Given the description of an element on the screen output the (x, y) to click on. 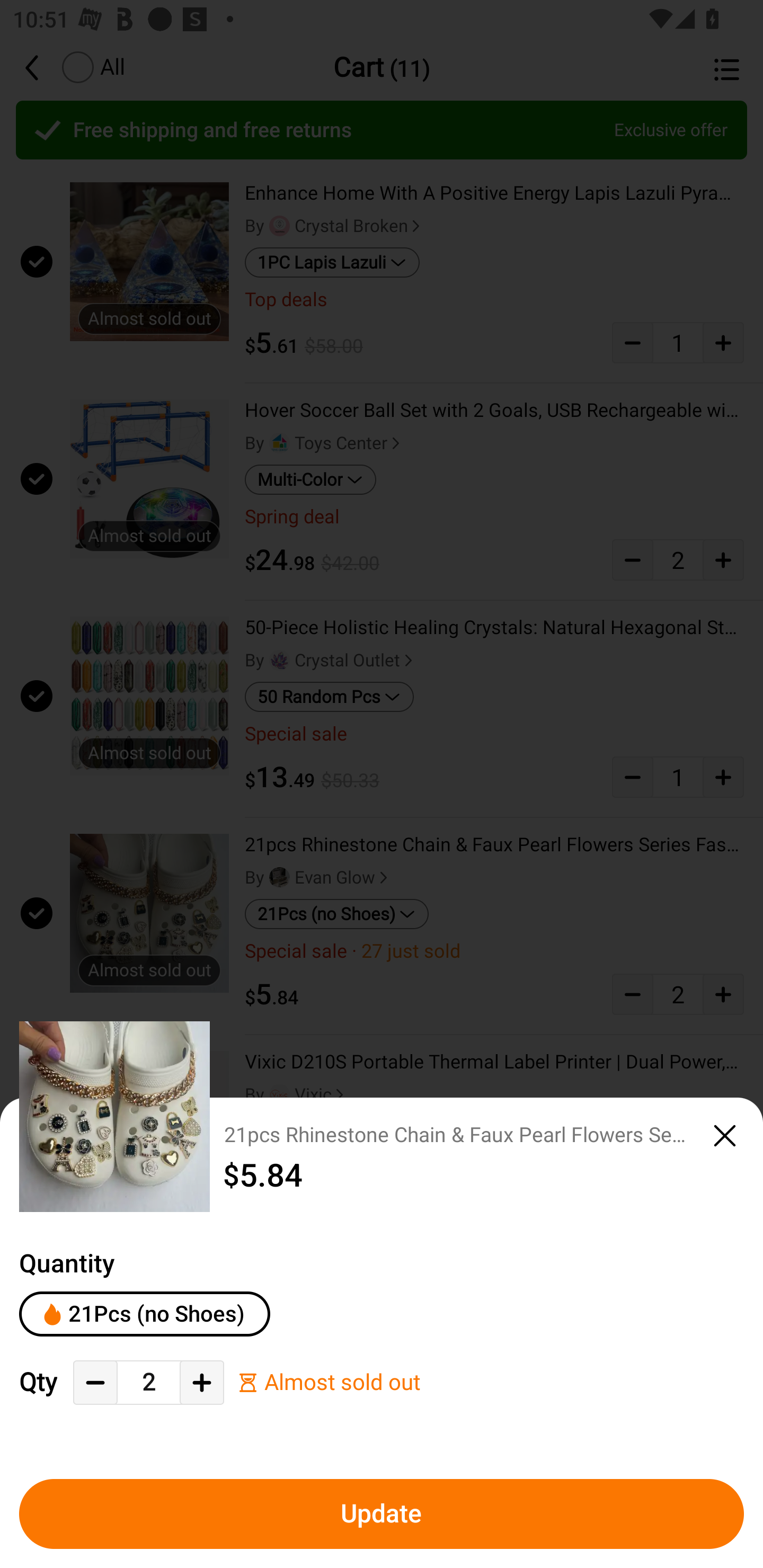
close (724, 1135)
 21Pcs (no Shoes) (144, 1313)
Decrease Quantity Button (95, 1382)
Add Quantity Button (201, 1382)
2 (148, 1382)
Update (381, 1513)
